Given the description of an element on the screen output the (x, y) to click on. 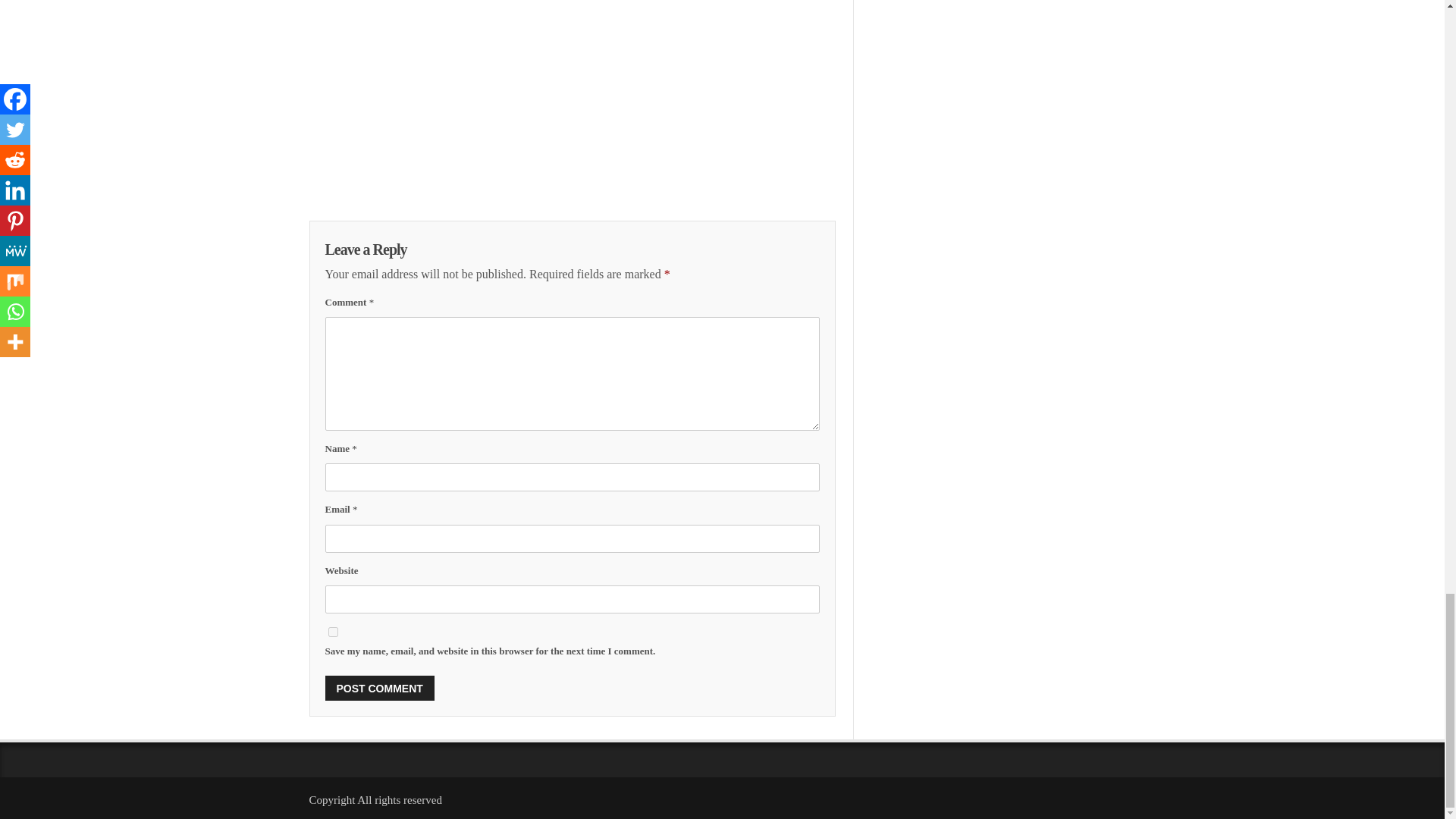
Post Comment (378, 688)
yes (332, 632)
